Given the description of an element on the screen output the (x, y) to click on. 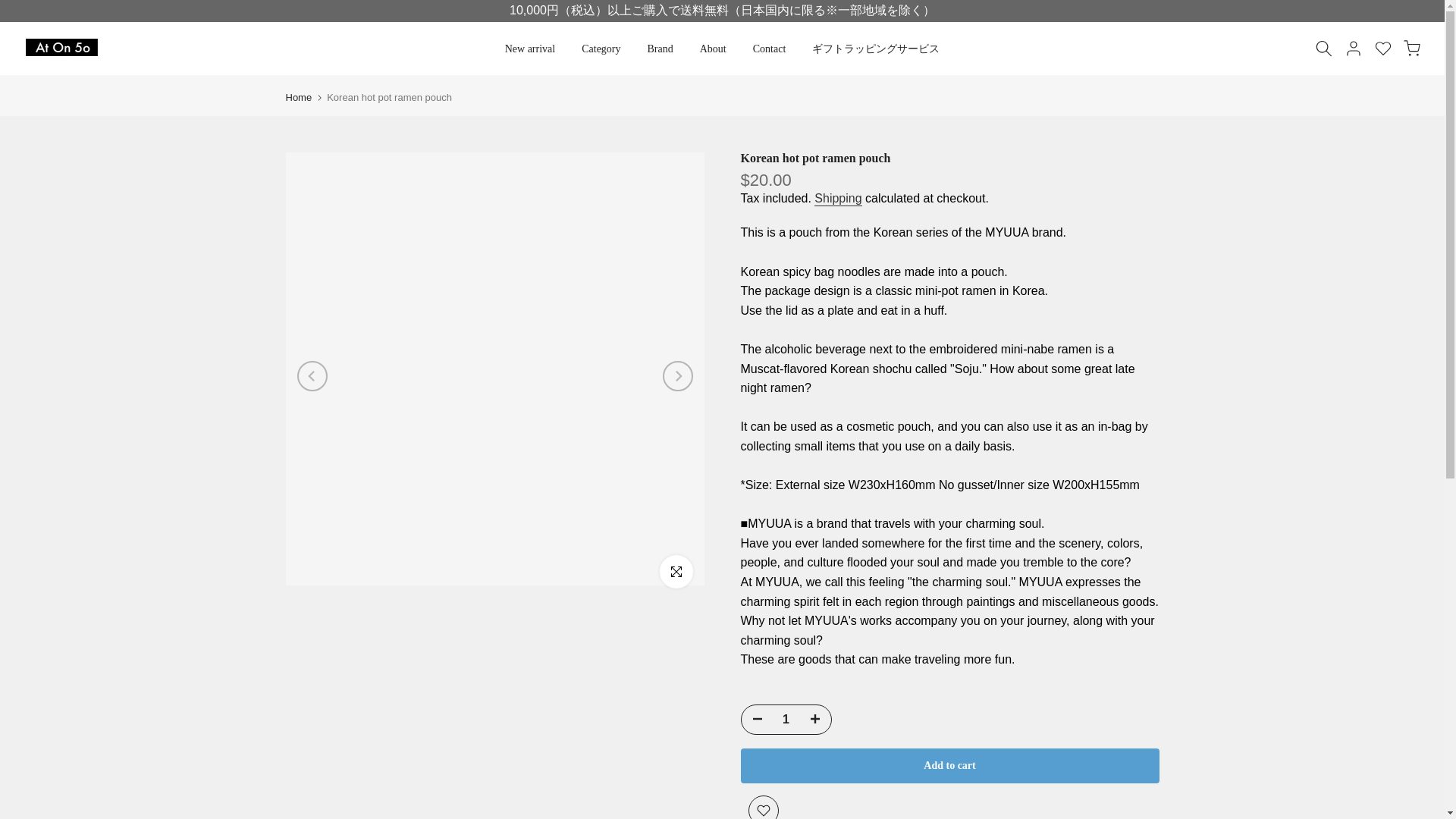
About (712, 49)
Add to cart (948, 765)
Shipping (837, 198)
New arrival (529, 49)
Home (298, 97)
Brand (659, 49)
Contact (769, 49)
Skip to content (10, 7)
Category (601, 49)
1 (786, 719)
